Given the description of an element on the screen output the (x, y) to click on. 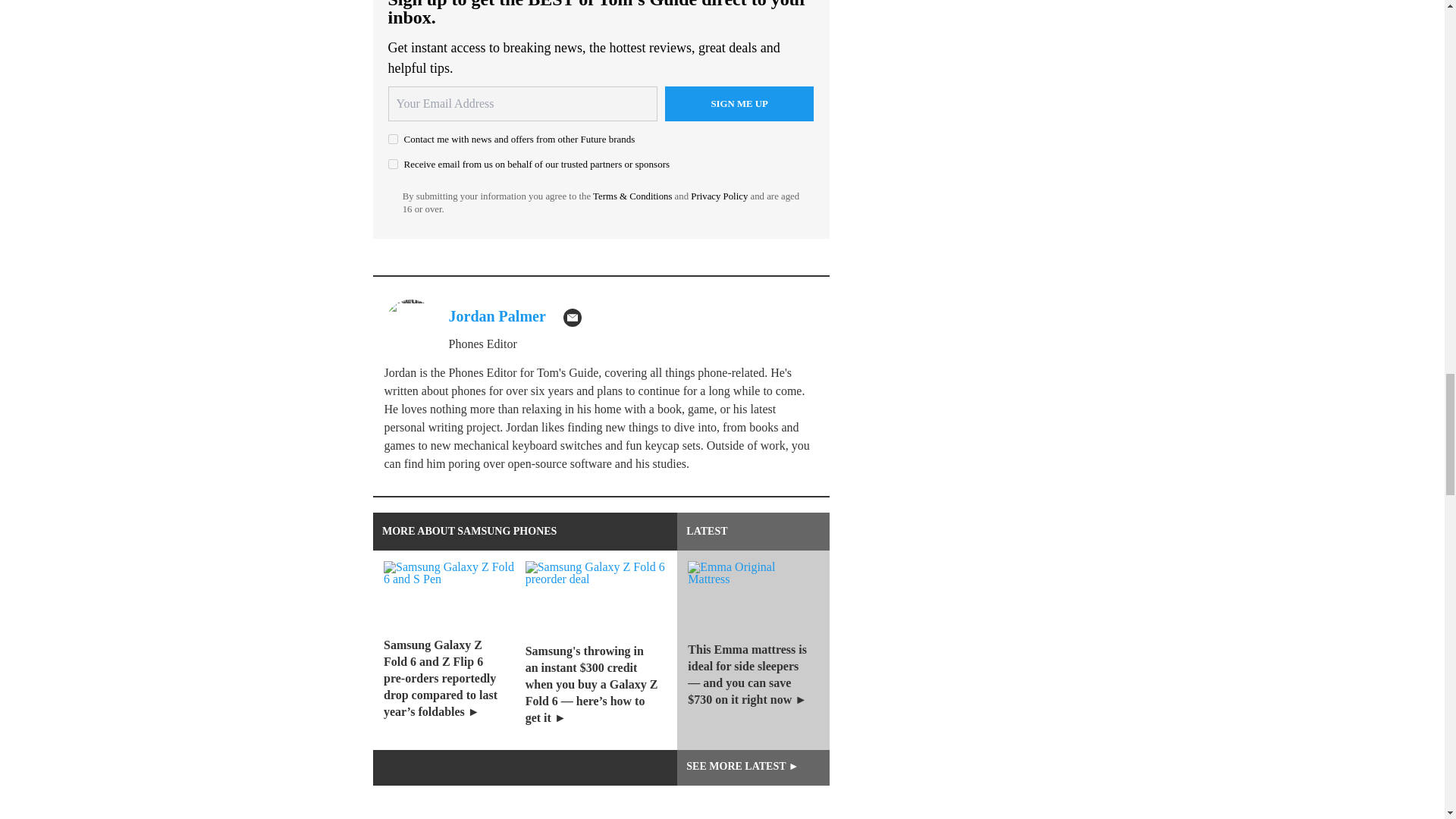
Sign me up (739, 103)
on (392, 139)
on (392, 163)
